Given the description of an element on the screen output the (x, y) to click on. 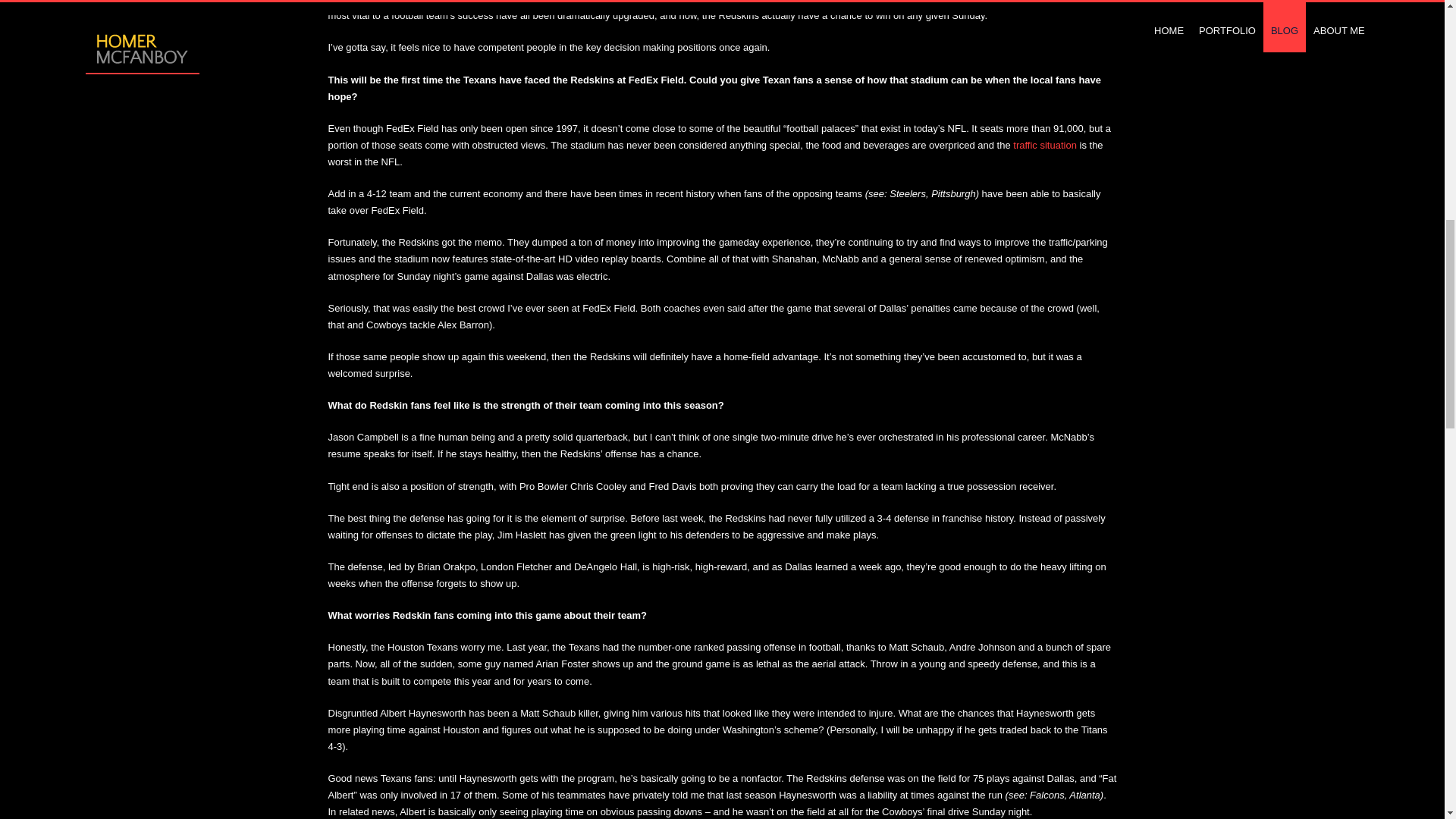
traffic situation (1045, 144)
